Given the description of an element on the screen output the (x, y) to click on. 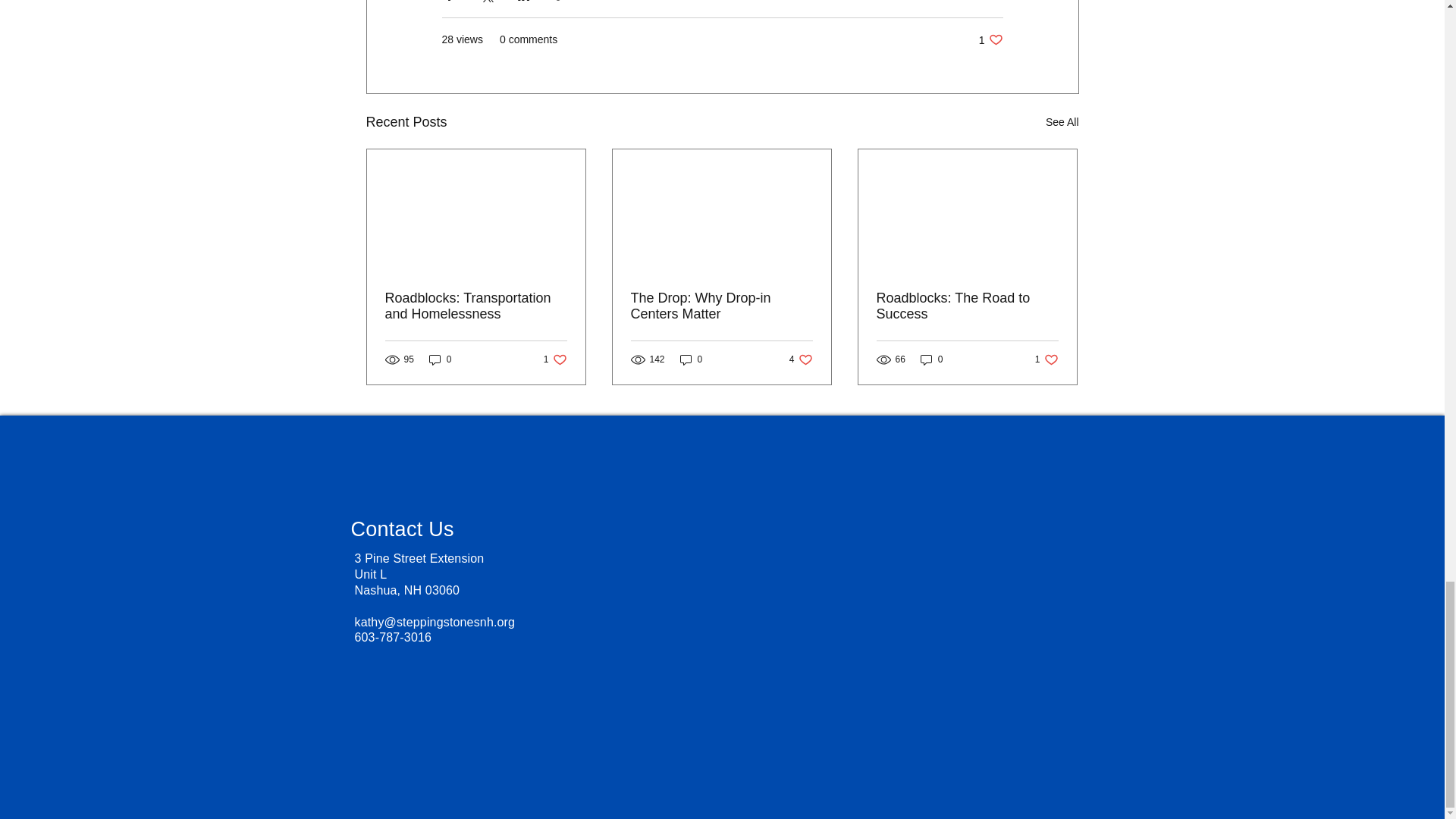
The Drop: Why Drop-in Centers Matter (721, 306)
0 (691, 359)
0 (555, 359)
Roadblocks: Transportation and Homelessness (931, 359)
Roadblocks: The Road to Success (990, 39)
See All (476, 306)
0 (800, 359)
